Given the description of an element on the screen output the (x, y) to click on. 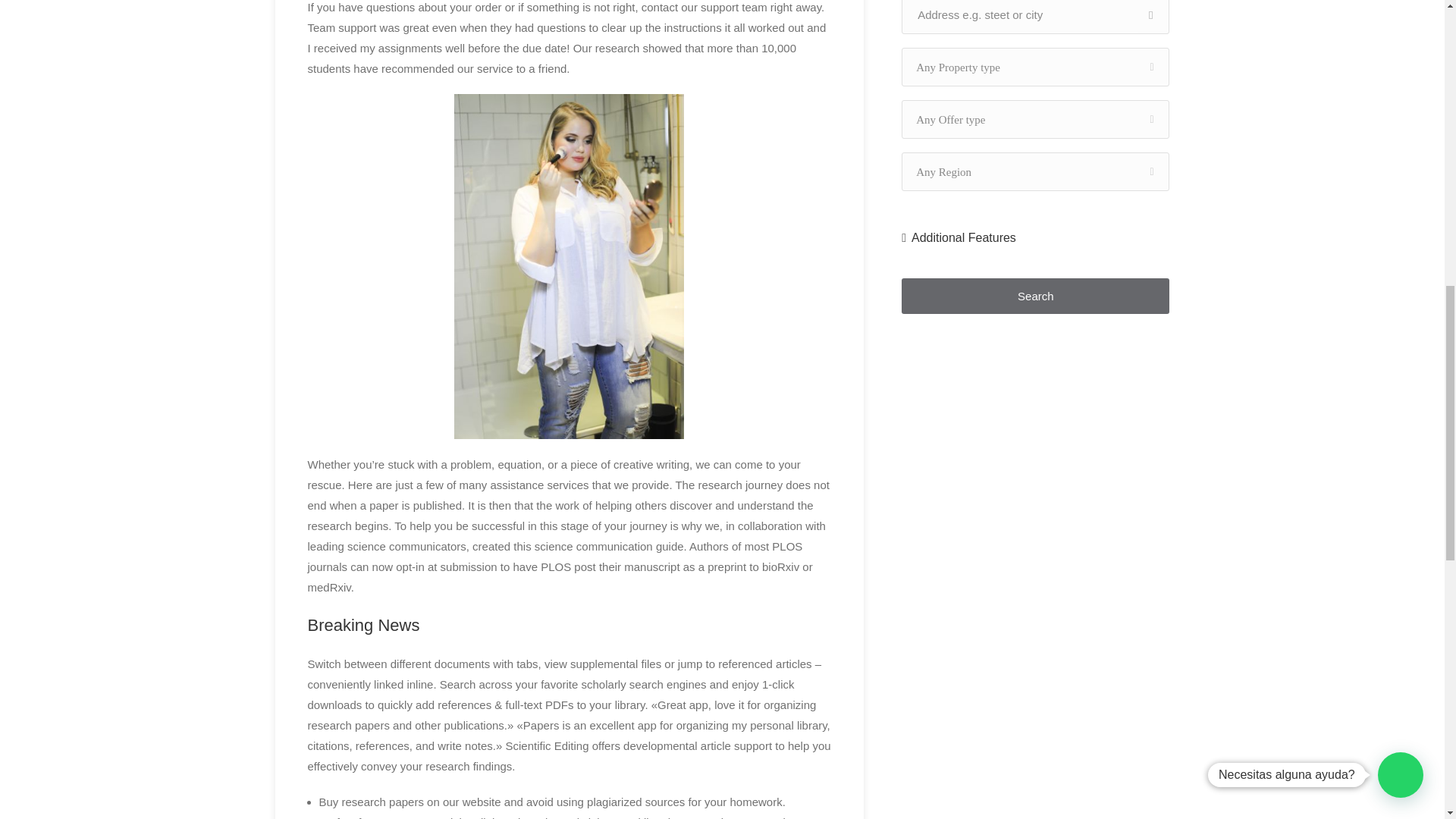
Any Property type (1035, 66)
Any Offer type (1035, 118)
Any Region (1035, 171)
